Given the description of an element on the screen output the (x, y) to click on. 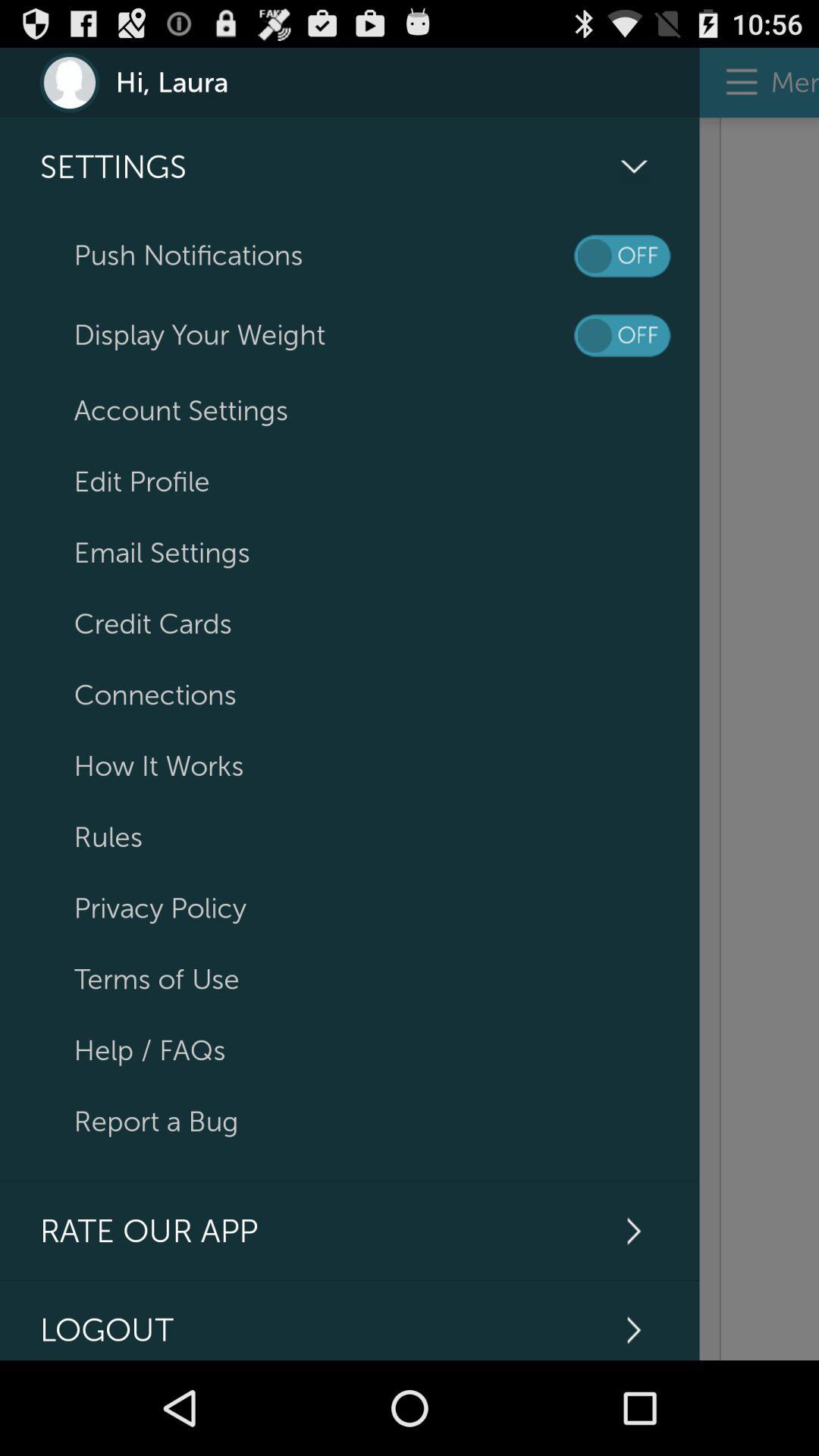
toggle weight (622, 335)
